Given the description of an element on the screen output the (x, y) to click on. 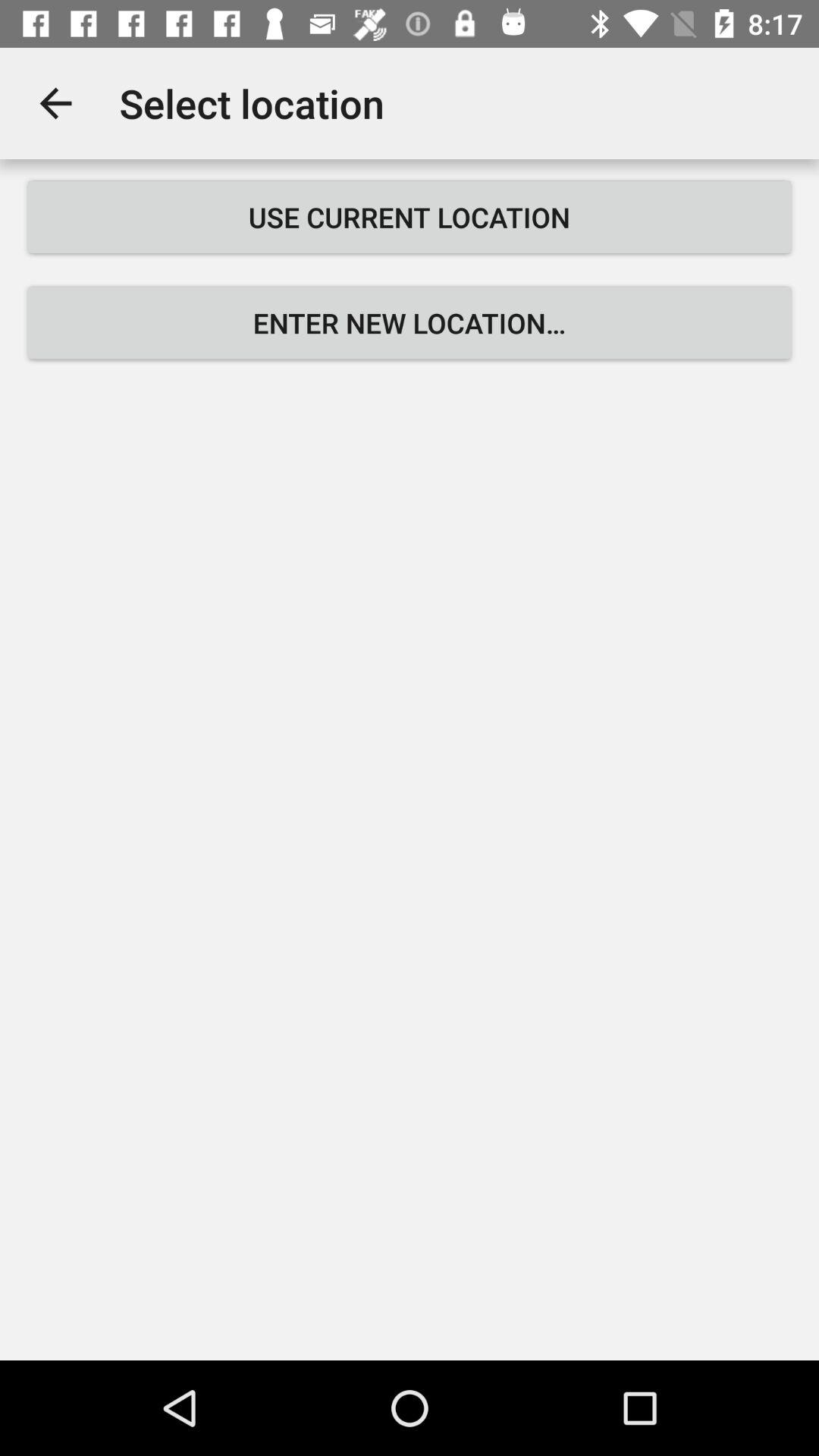
select icon below use current location item (409, 322)
